Given the description of an element on the screen output the (x, y) to click on. 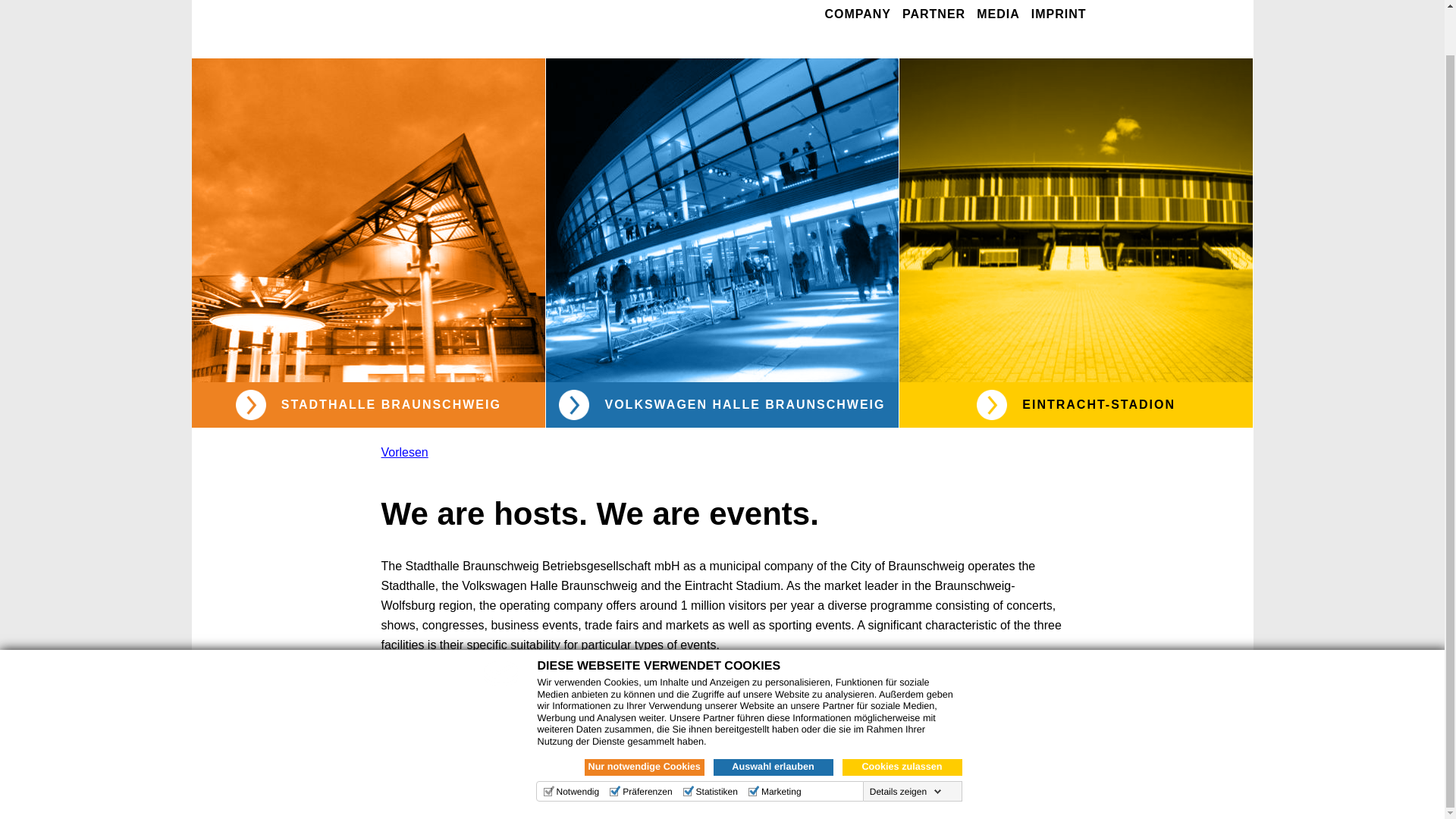
COMPANY (857, 14)
Nur notwendige Cookies (643, 719)
Details zeigen (905, 743)
Auswahl erlauben (772, 719)
Cookies zulassen (900, 719)
